Given the description of an element on the screen output the (x, y) to click on. 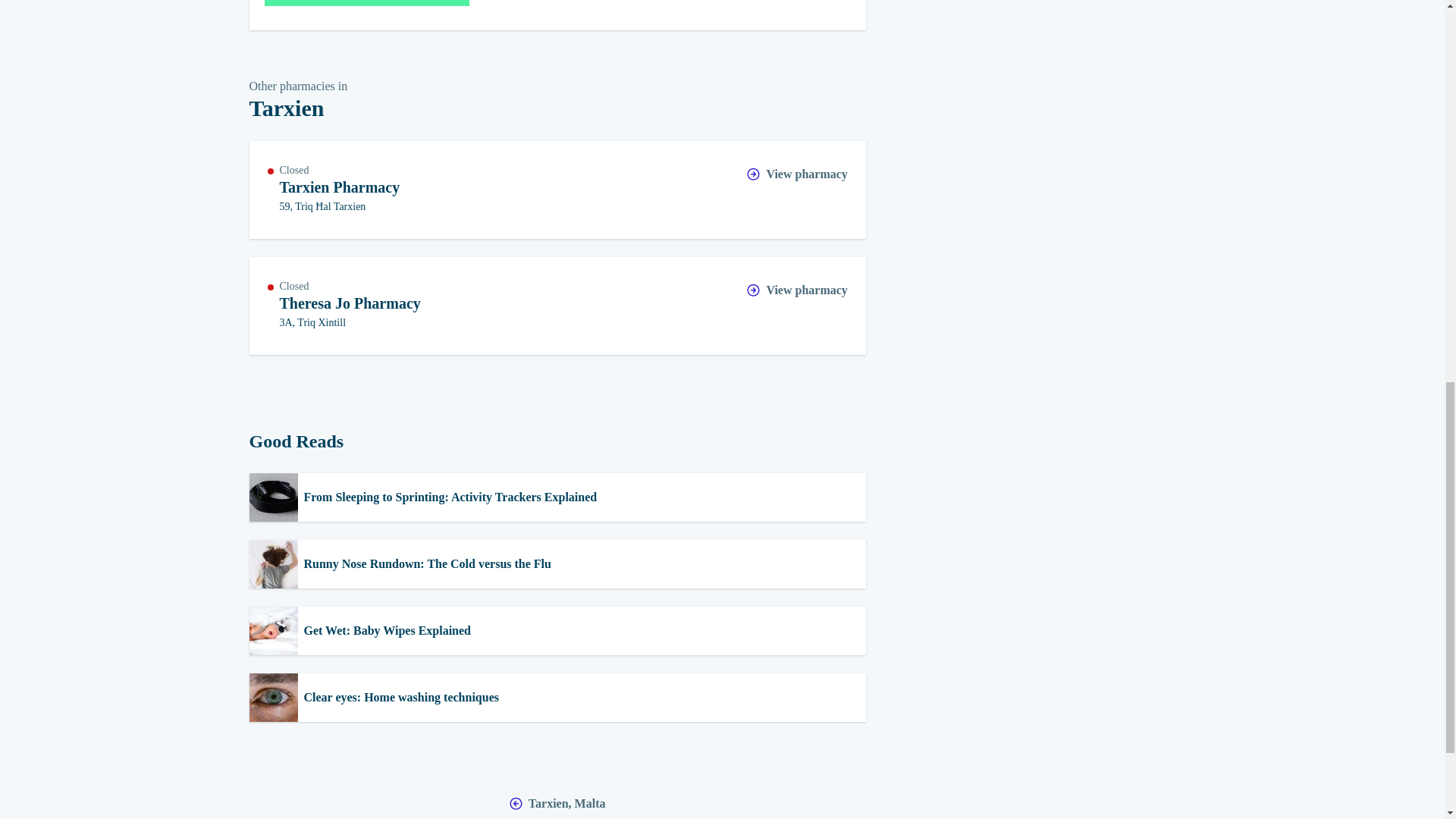
View pharmacy (796, 290)
Runny Nose Rundown: The Cold versus the Flu (556, 563)
View pharmacy (796, 175)
Healthcare Professionals Directory (365, 2)
Get Wet: Baby Wipes Explained (556, 630)
Clear eyes: Home washing techniques (556, 697)
From Sleeping to Sprinting: Activity Trackers Explained (556, 304)
